Given the description of an element on the screen output the (x, y) to click on. 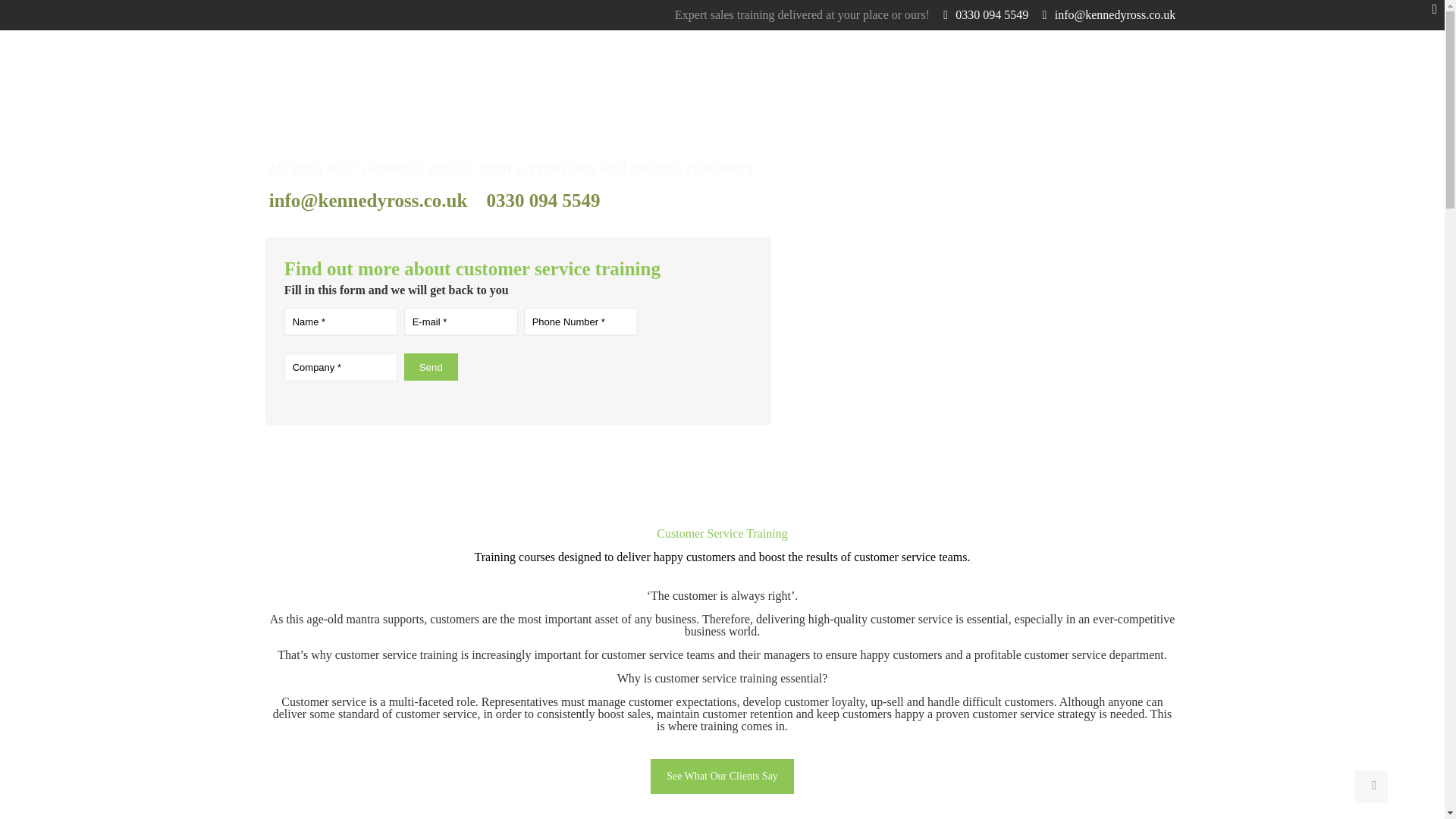
Send (431, 366)
0330 094 5549 (991, 14)
